Given the description of an element on the screen output the (x, y) to click on. 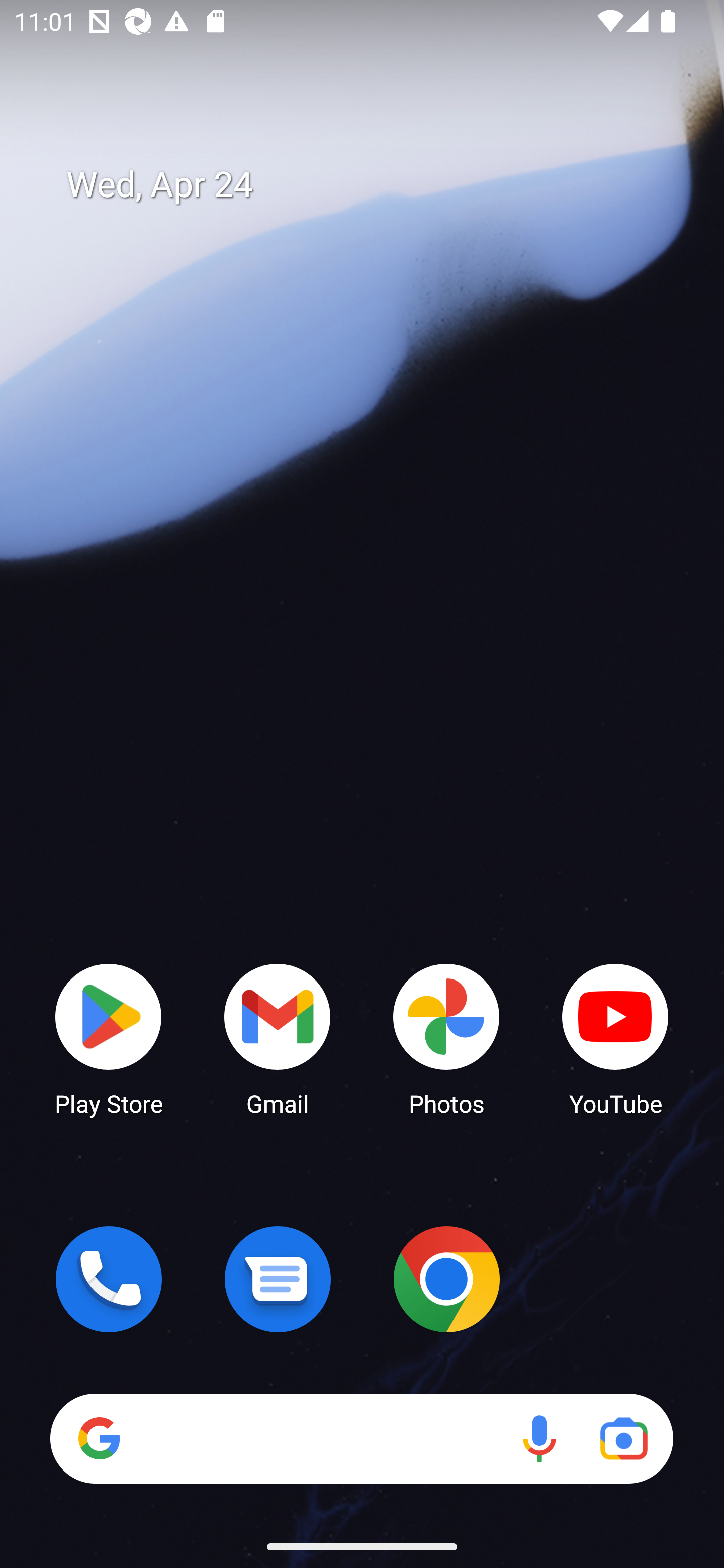
Wed, Apr 24 (375, 184)
Play Store (108, 1038)
Gmail (277, 1038)
Photos (445, 1038)
YouTube (615, 1038)
Phone (108, 1279)
Messages (277, 1279)
Chrome (446, 1279)
Search Voice search Google Lens (361, 1438)
Voice search (539, 1438)
Google Lens (623, 1438)
